Given the description of an element on the screen output the (x, y) to click on. 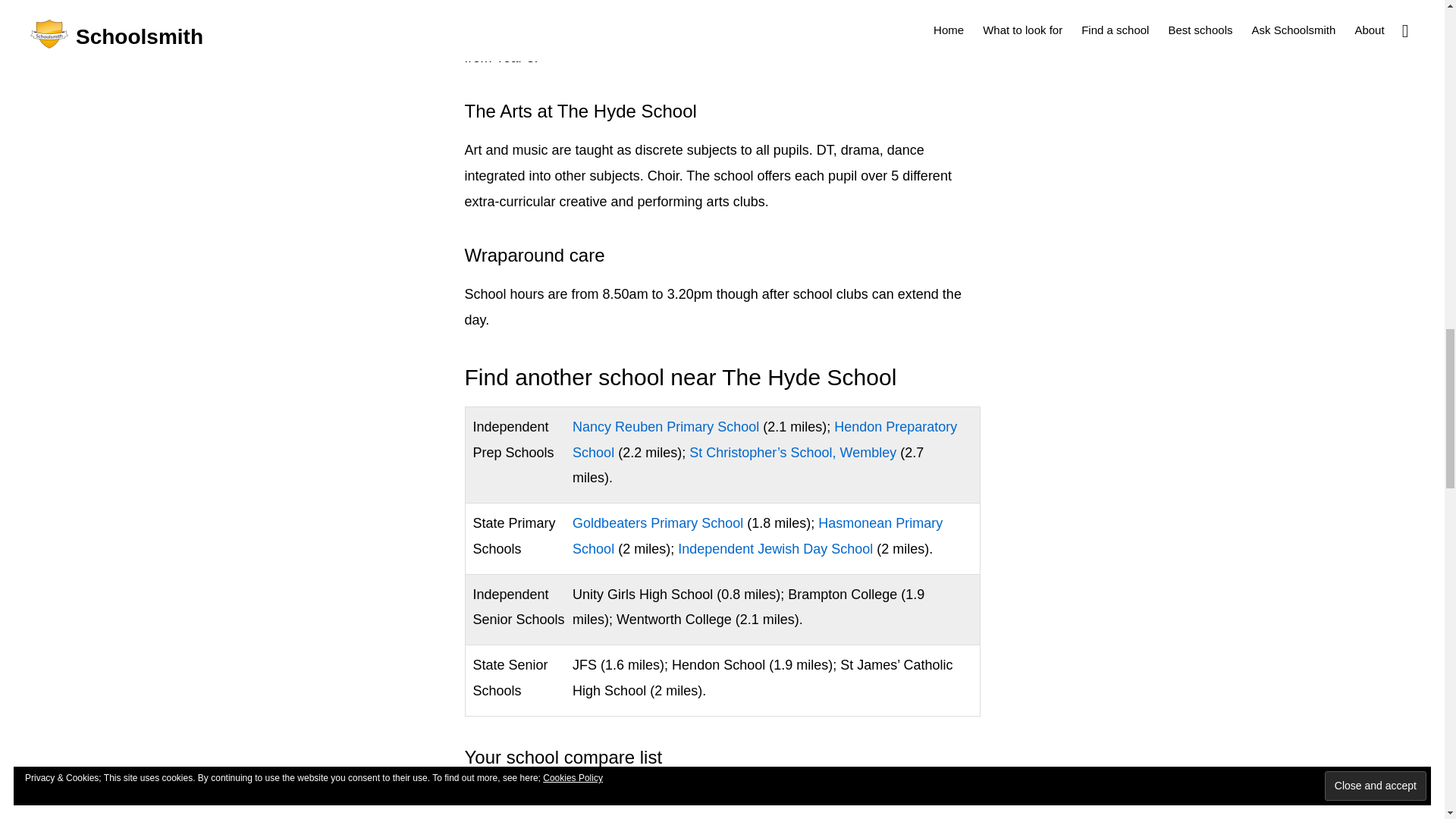
Independent Jewish Day School (775, 548)
Goldbeaters Primary School (657, 522)
Add current school (521, 795)
Hasmonean Primary School (757, 535)
Hendon Preparatory School (764, 439)
Add current school (521, 795)
Nancy Reuben Primary School (665, 426)
